Given the description of an element on the screen output the (x, y) to click on. 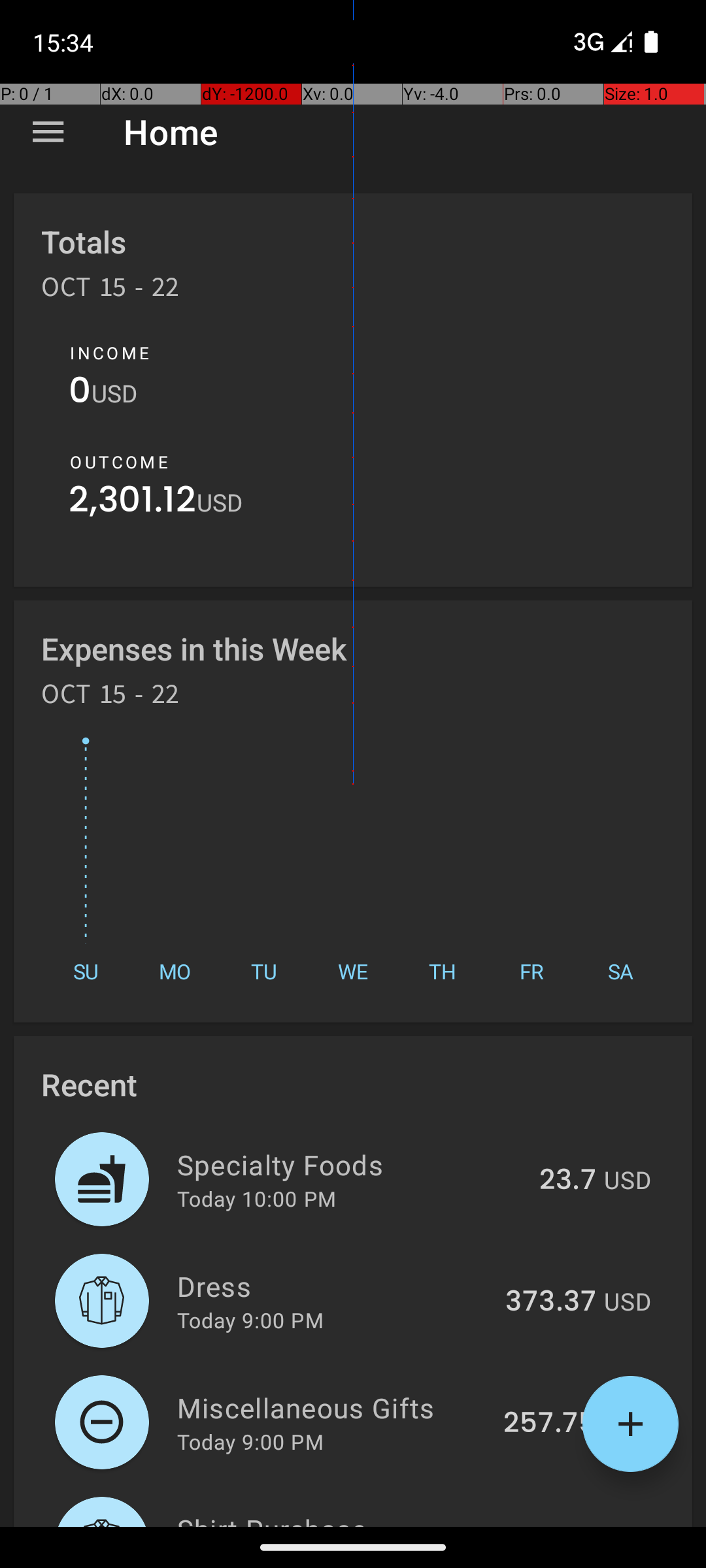
2,301.12 Element type: android.widget.TextView (132, 502)
Specialty Foods Element type: android.widget.TextView (350, 1164)
Today 10:00 PM Element type: android.widget.TextView (256, 1198)
23.7 Element type: android.widget.TextView (567, 1180)
Dress Element type: android.widget.TextView (333, 1285)
Today 9:00 PM Element type: android.widget.TextView (250, 1320)
373.37 Element type: android.widget.TextView (550, 1301)
Miscellaneous Gifts Element type: android.widget.TextView (332, 1407)
257.75 Element type: android.widget.TextView (549, 1423)
Shirt Purchase Element type: android.widget.TextView (339, 1518)
321.61 Element type: android.widget.TextView (555, 1524)
